Given the description of an element on the screen output the (x, y) to click on. 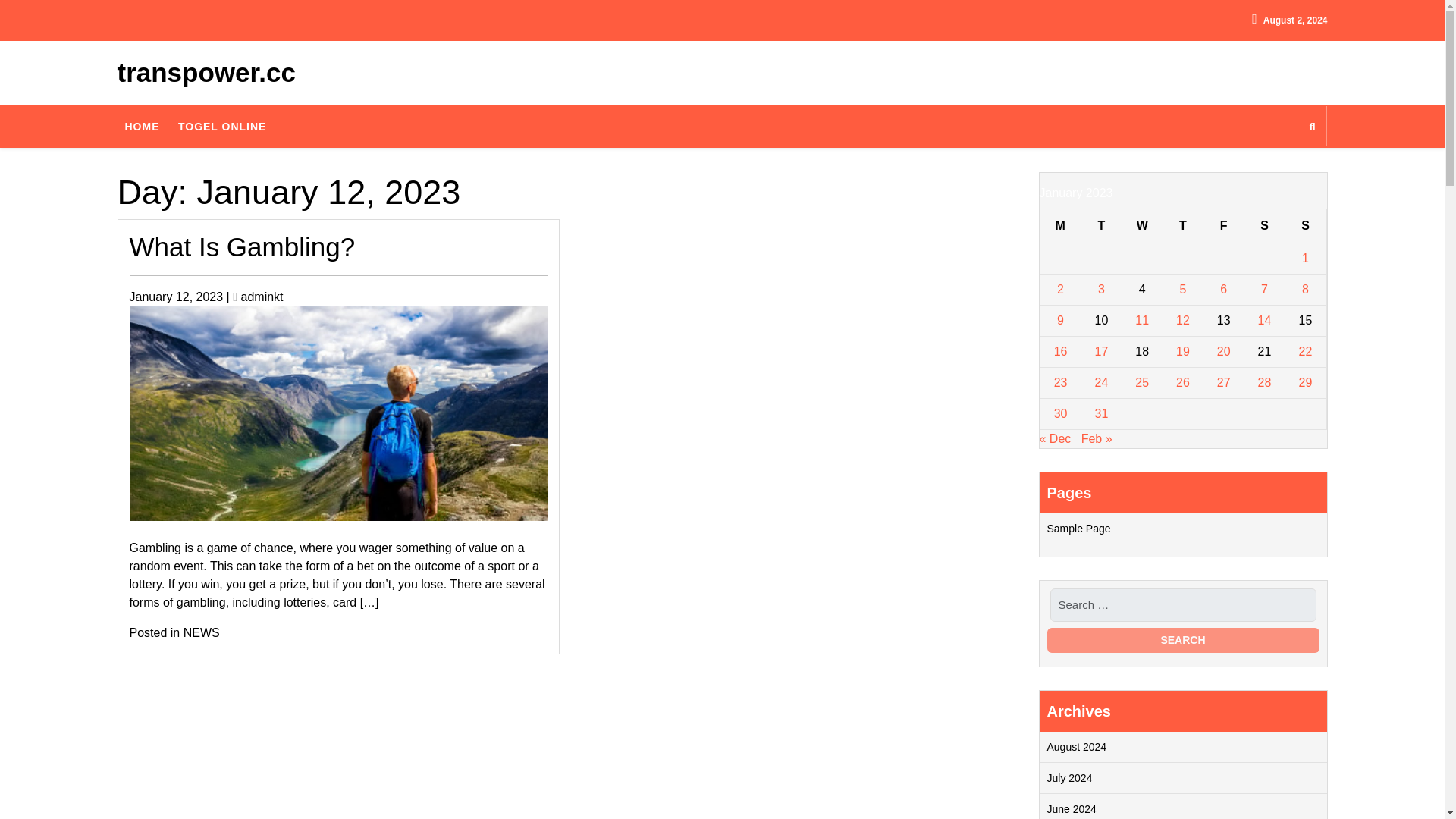
TOGEL ONLINE (222, 125)
25 (1141, 382)
HOME (141, 125)
11 (1141, 319)
Friday (1224, 225)
30 (1060, 412)
23 (1060, 382)
26 (1182, 382)
19 (1182, 350)
Saturday (1264, 225)
Sample Page (1077, 527)
24 (1101, 382)
Monday (1060, 225)
Search (1182, 640)
Search (1182, 640)
